Given the description of an element on the screen output the (x, y) to click on. 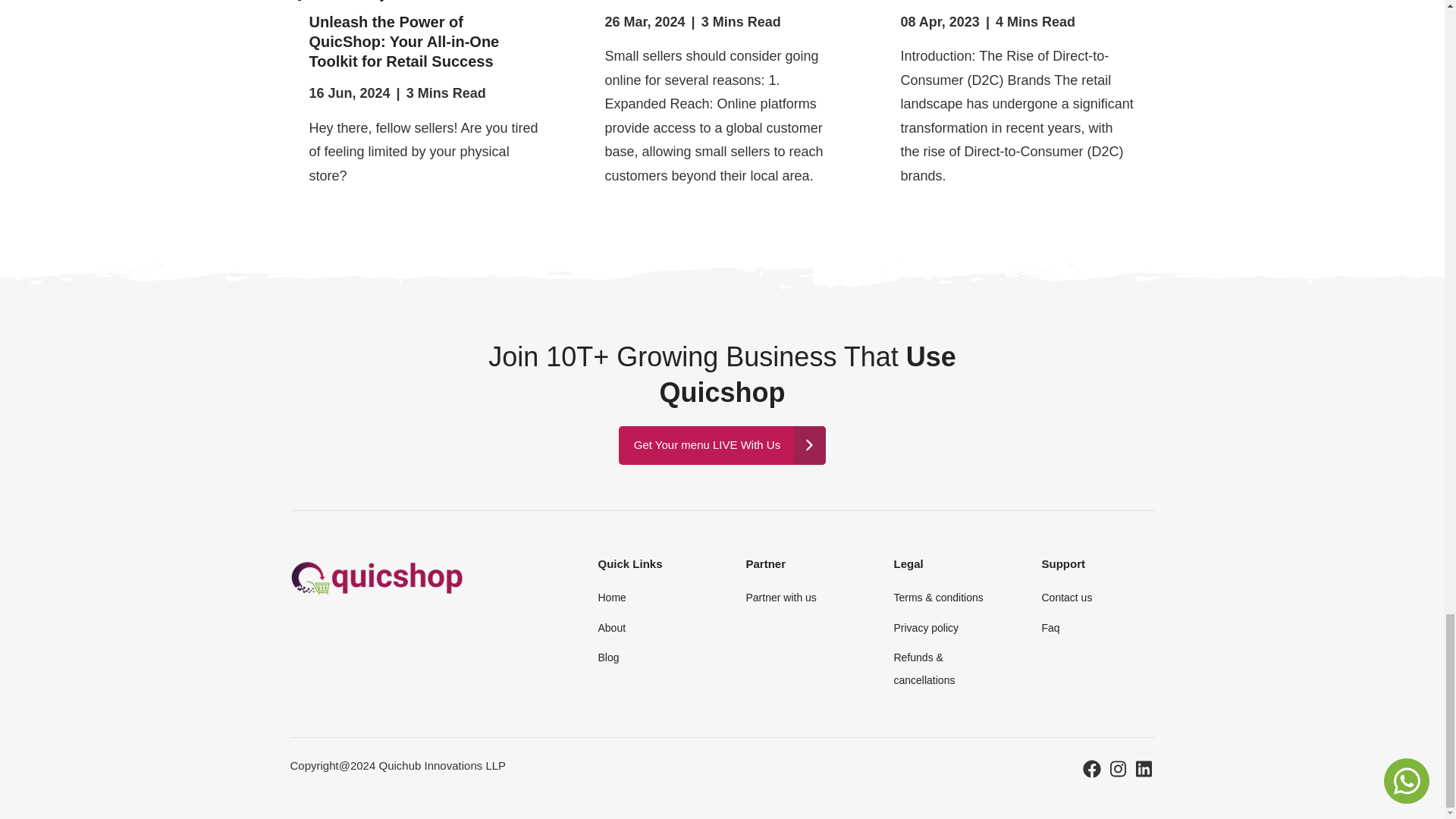
About (611, 627)
Get Your menu LIVE With Us (721, 445)
Privacy policy (925, 627)
Blog (607, 657)
Faq (1050, 627)
Contact us (1066, 597)
Home (611, 597)
Partner with us (780, 597)
